Given the description of an element on the screen output the (x, y) to click on. 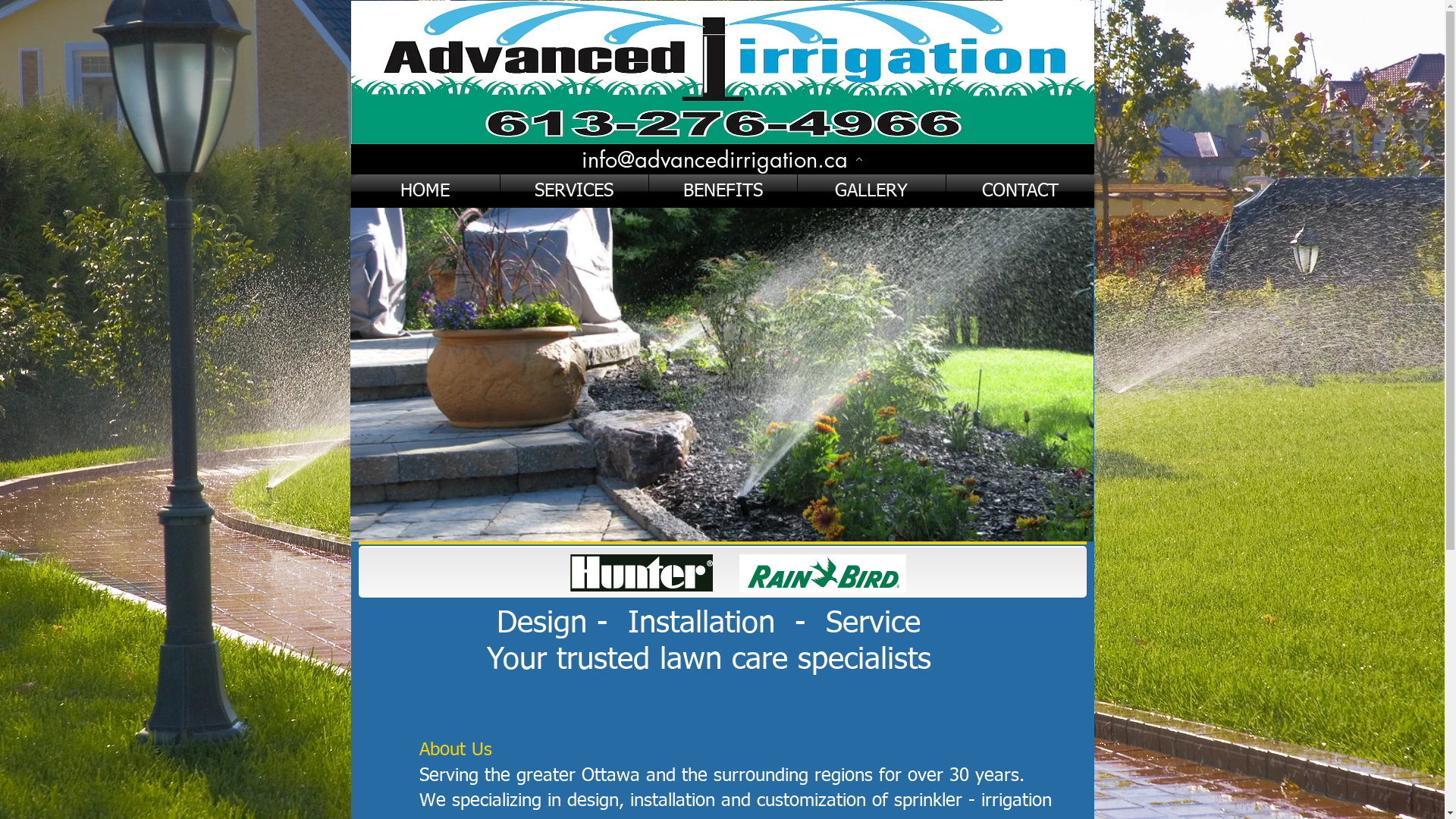
CONTACT Element type: text (1020, 191)
HOME Element type: text (424, 191)
info@advancedirrigation.ca Element type: text (721, 159)
SERVICES Element type: text (574, 191)
BENEFITS Element type: text (723, 191)
GALLERY Element type: text (871, 191)
